Given the description of an element on the screen output the (x, y) to click on. 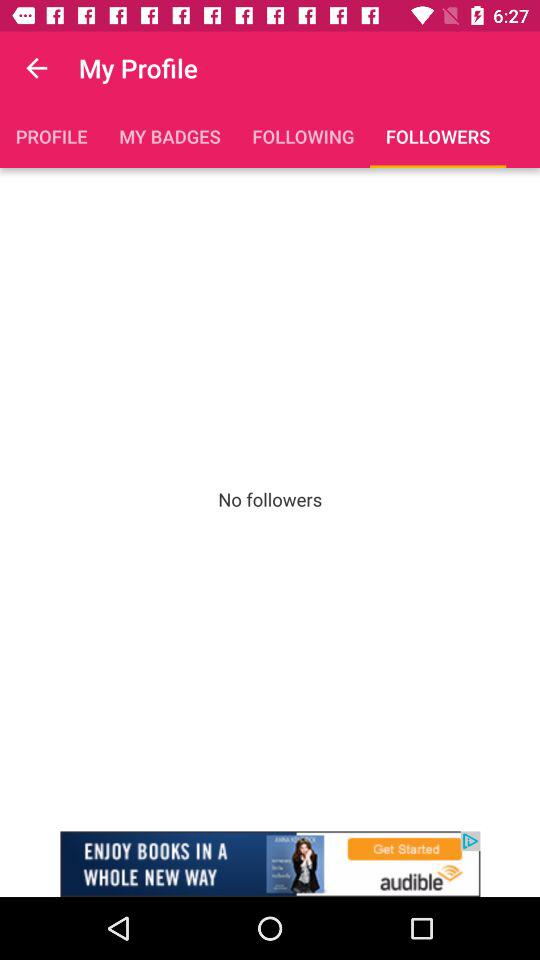
go to advertisement option (270, 864)
